Given the description of an element on the screen output the (x, y) to click on. 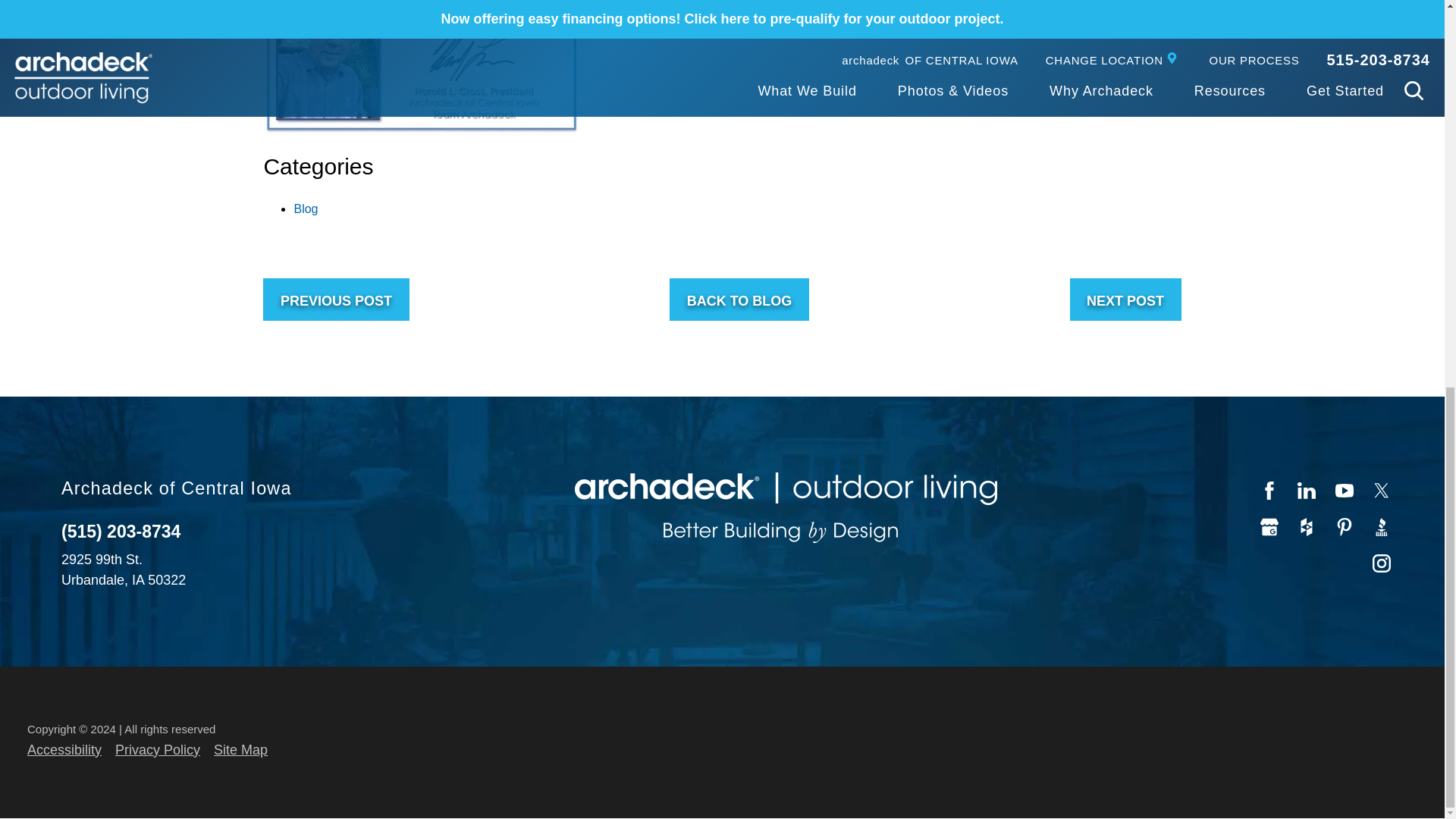
Instagram (1381, 563)
Facebook (1269, 490)
Houzz (1307, 526)
Google My Business (1269, 526)
LinkedIn (1307, 490)
Pinterest (1345, 526)
Twitter (1381, 490)
YouTube (1345, 490)
BBB (1381, 526)
